Given the description of an element on the screen output the (x, y) to click on. 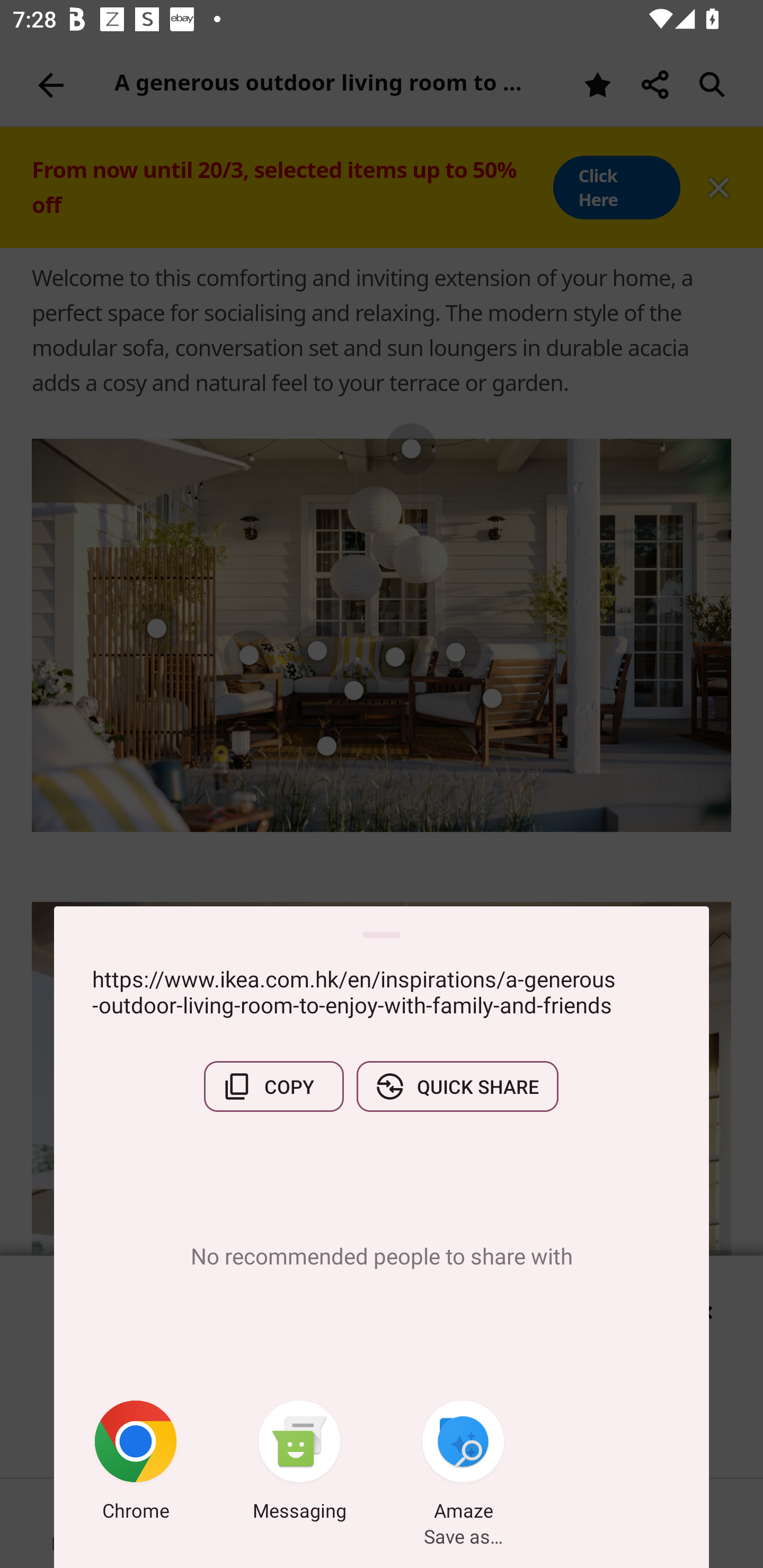
COPY (273, 1086)
QUICK SHARE (457, 1086)
Chrome (135, 1463)
Messaging (299, 1463)
Amaze Save as… (463, 1463)
